Given the description of an element on the screen output the (x, y) to click on. 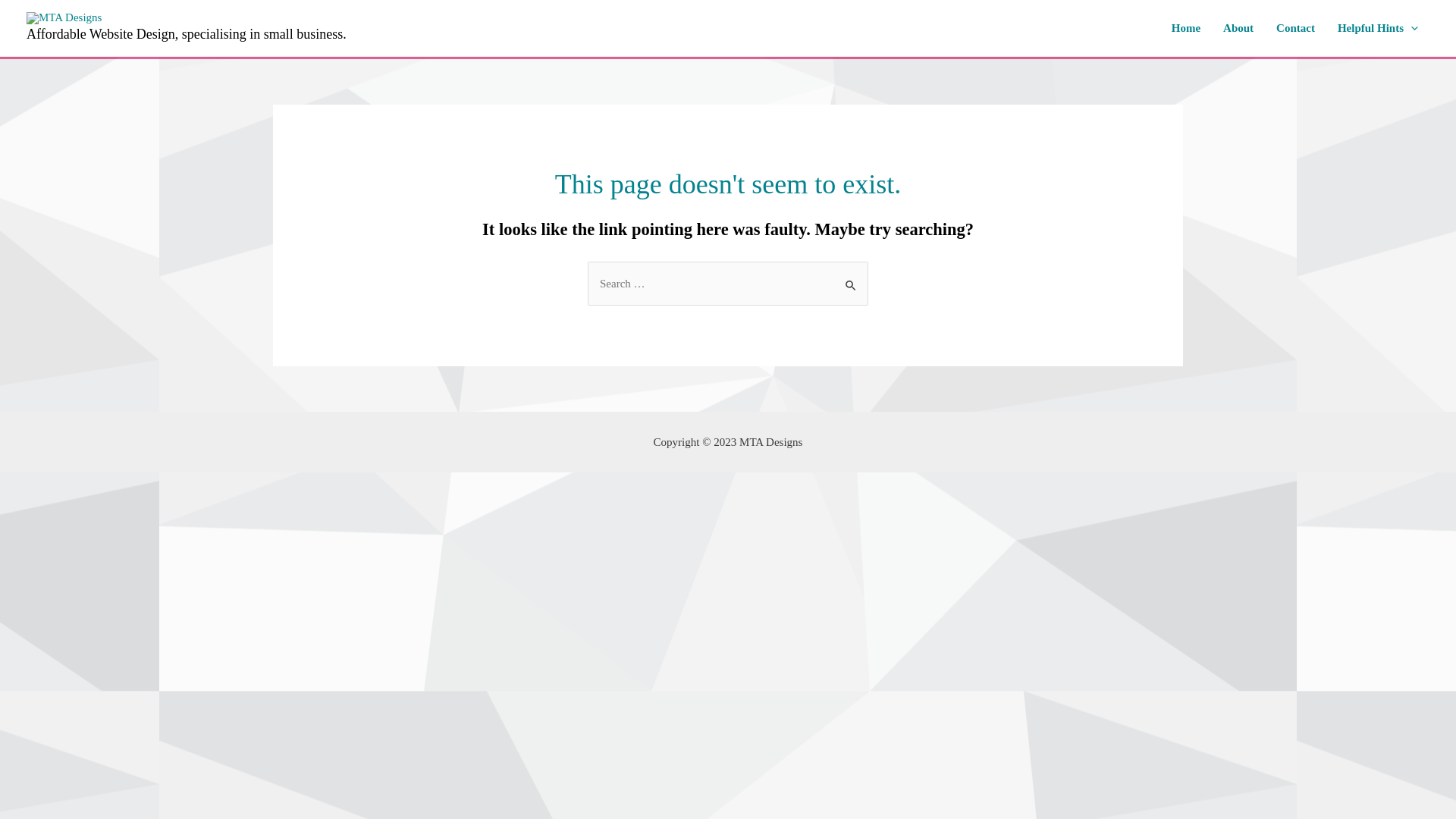
Contact Element type: text (1295, 27)
About Element type: text (1237, 27)
Helpful Hints Element type: text (1377, 27)
Search Element type: text (851, 276)
Home Element type: text (1185, 27)
